Given the description of an element on the screen output the (x, y) to click on. 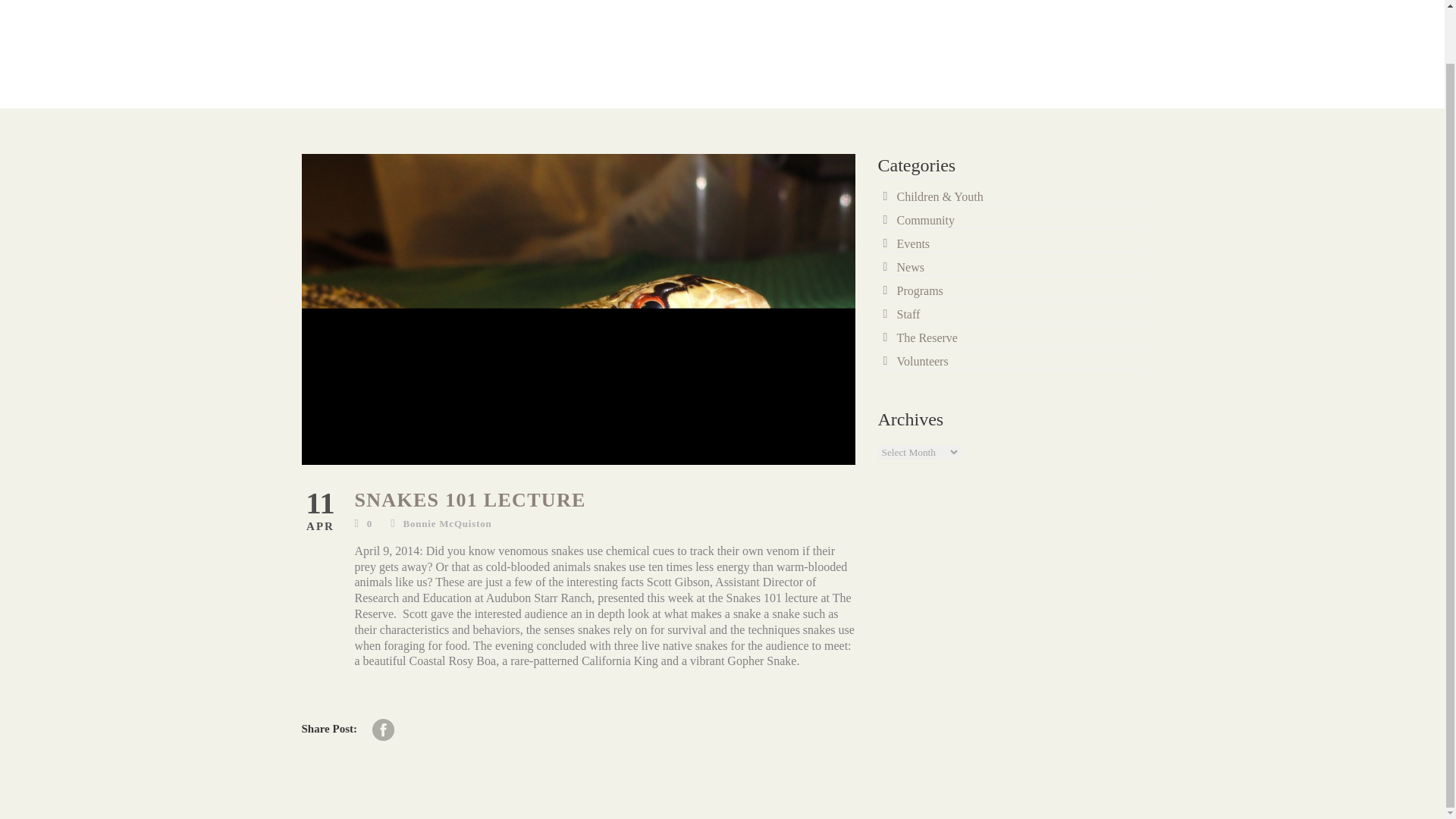
Programs (919, 290)
Volunteers (921, 360)
The Reserve (926, 337)
Bonnie McQuiston (447, 523)
Community (924, 219)
Posts by Bonnie McQuiston (447, 523)
News (909, 267)
Events (913, 243)
Staff (908, 314)
